Given the description of an element on the screen output the (x, y) to click on. 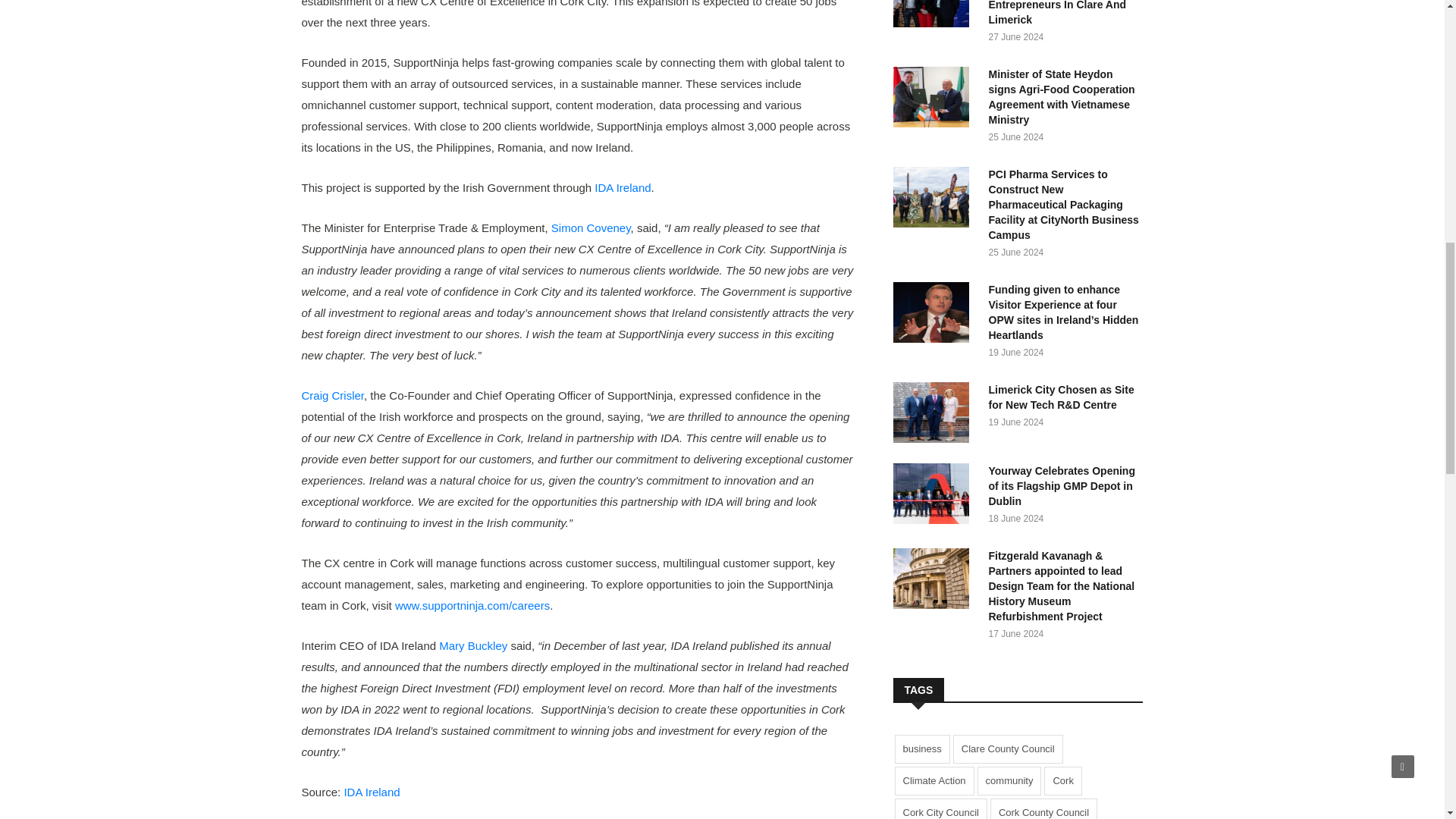
Craig Crisler (333, 395)
IDA Ireland (622, 187)
Simon Coveney (590, 227)
IDA Ireland (370, 791)
Mary Buckley (472, 645)
